Given the description of an element on the screen output the (x, y) to click on. 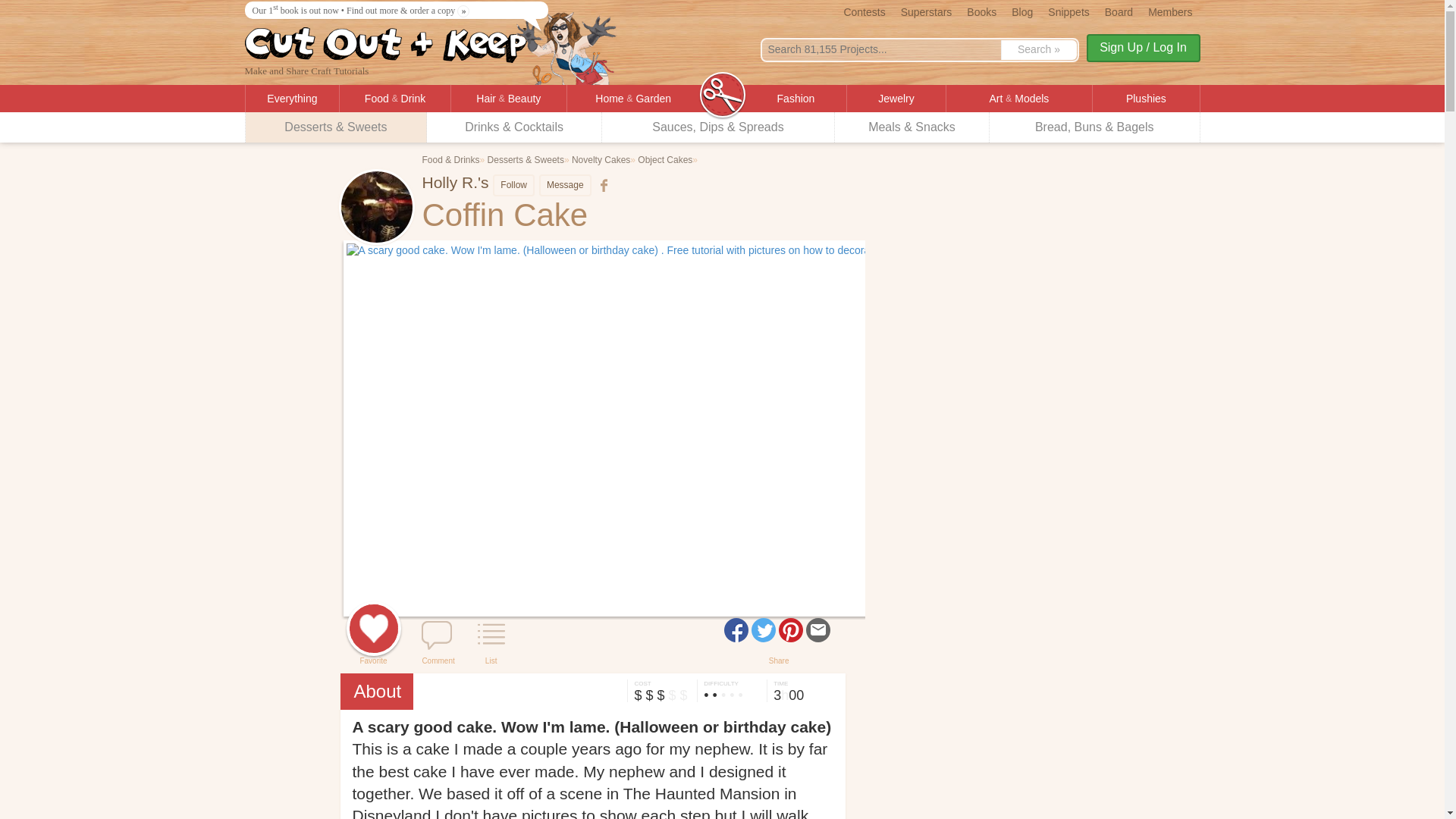
Snippets (1068, 10)
Superstars (926, 10)
Members (1169, 10)
Share this project in an email (817, 630)
Contests (863, 10)
Board (1118, 10)
Share this project on Facebook (735, 630)
Everything (292, 98)
Blog (1022, 10)
Share this project on Twitter (763, 630)
Holly Redmon on Facebook (601, 184)
Add this project to a list (491, 635)
Books (981, 10)
Share this project on Pinterest (790, 630)
Leave a comment (436, 635)
